Given the description of an element on the screen output the (x, y) to click on. 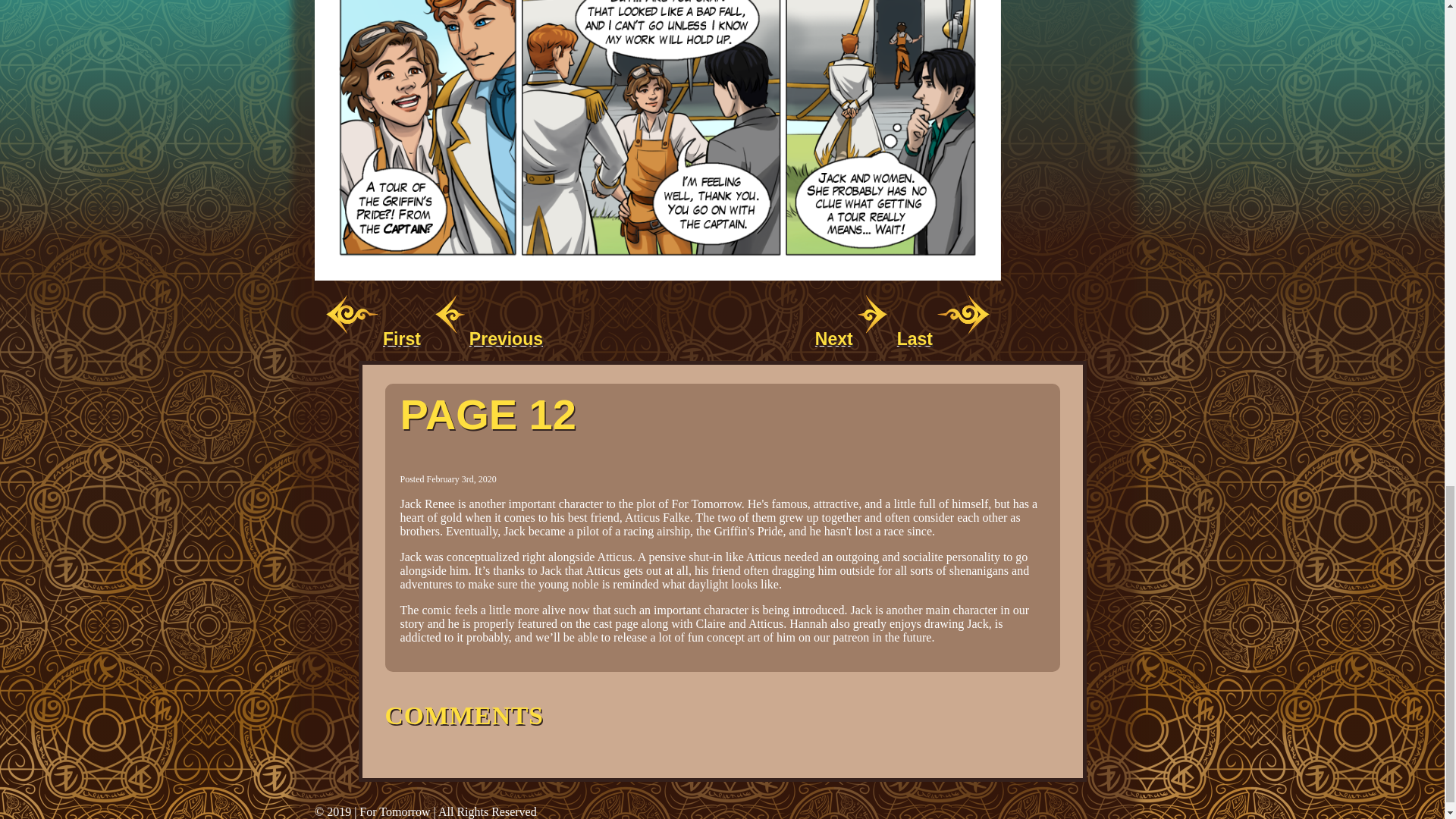
First (374, 340)
Previous (486, 340)
